Given the description of an element on the screen output the (x, y) to click on. 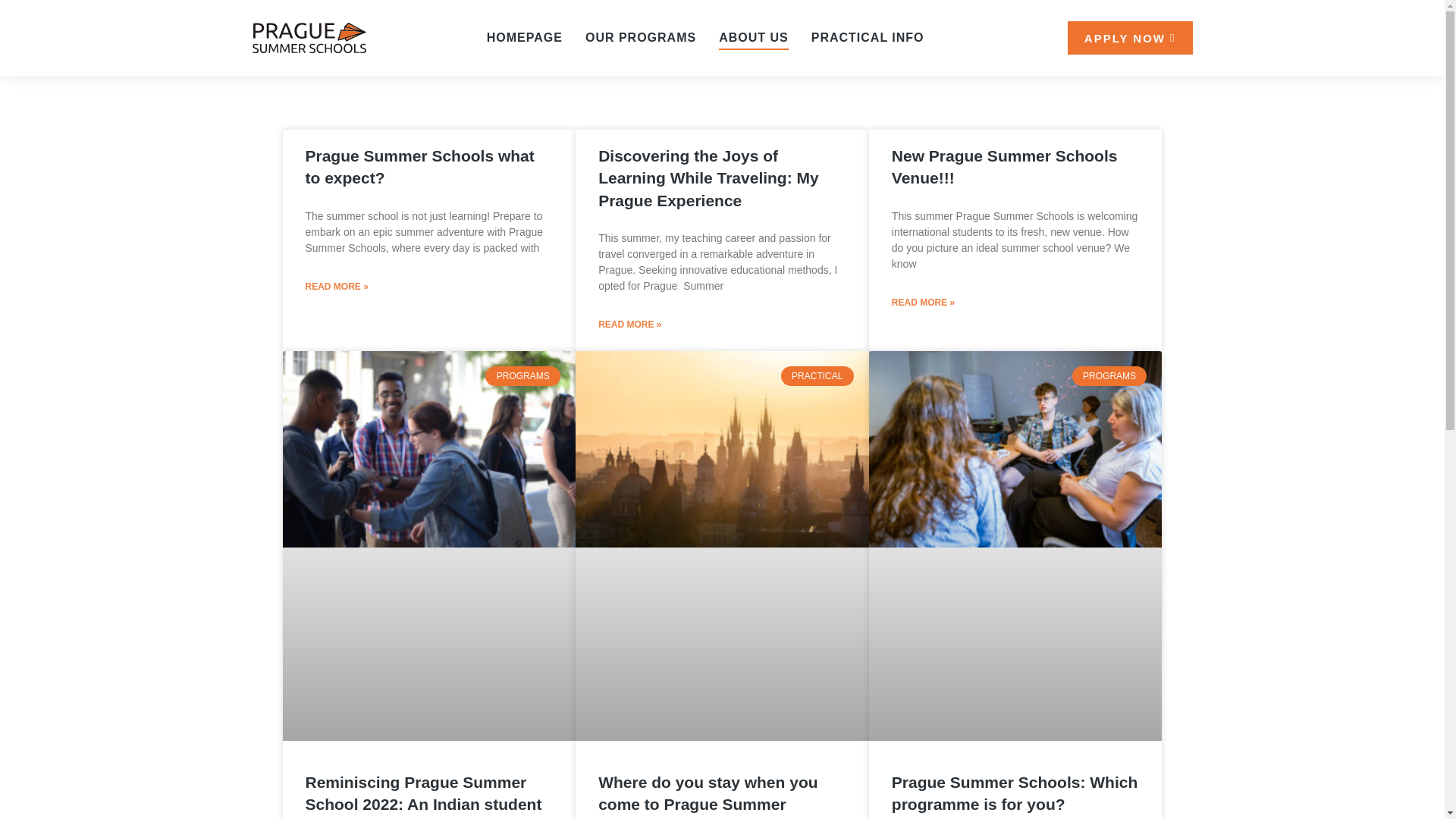
OUR PROGRAMS (640, 37)
Prague Summer Schools what to expect? (419, 166)
HOMEPAGE (524, 37)
Where do you stay when you come to Prague Summer School? (707, 796)
Reminiscing Prague Summer School 2022: An Indian student (422, 793)
New Prague Summer Schools Venue!!! (1004, 166)
PRACTICAL INFO (867, 37)
APPLY NOW (1129, 37)
ABOUT US (754, 37)
Prague Summer Schools: Which programme is for you? (1014, 793)
